Given the description of an element on the screen output the (x, y) to click on. 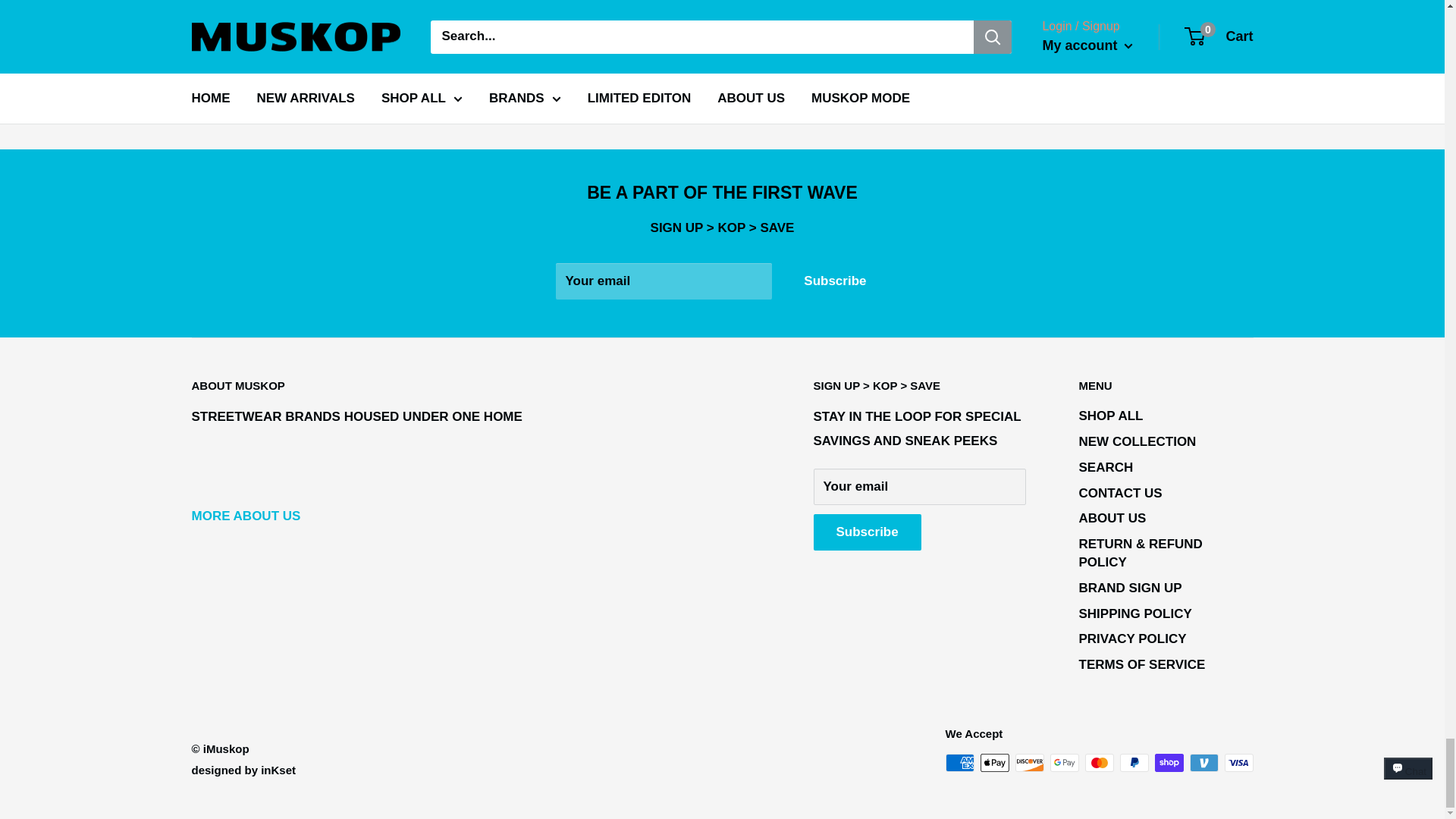
ABOUT US (244, 515)
